Given the description of an element on the screen output the (x, y) to click on. 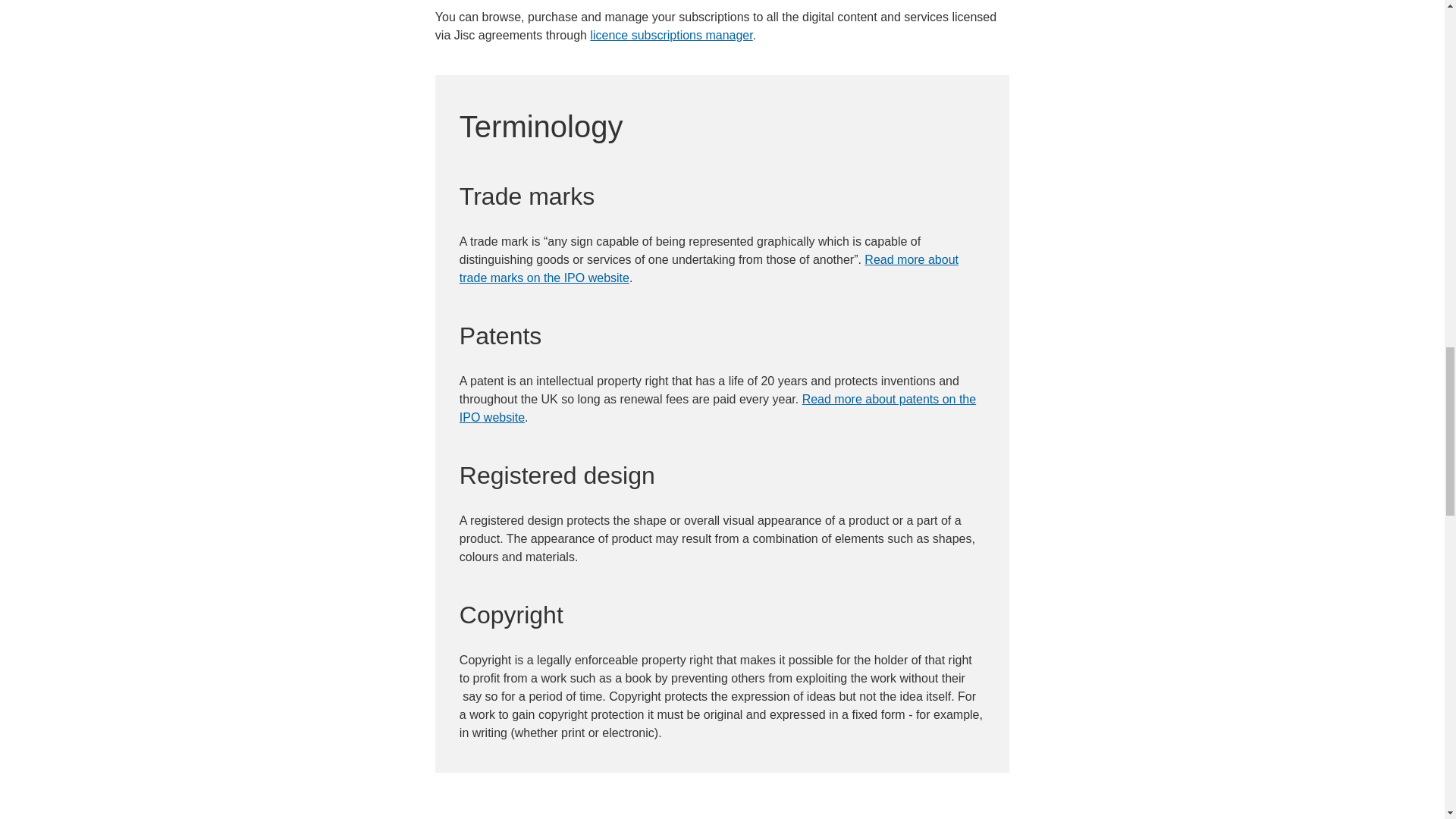
licence subscriptions manager (670, 34)
Read more about trade marks on the IPO website (709, 268)
Read more about patents on the IPO website (717, 408)
